Given the description of an element on the screen output the (x, y) to click on. 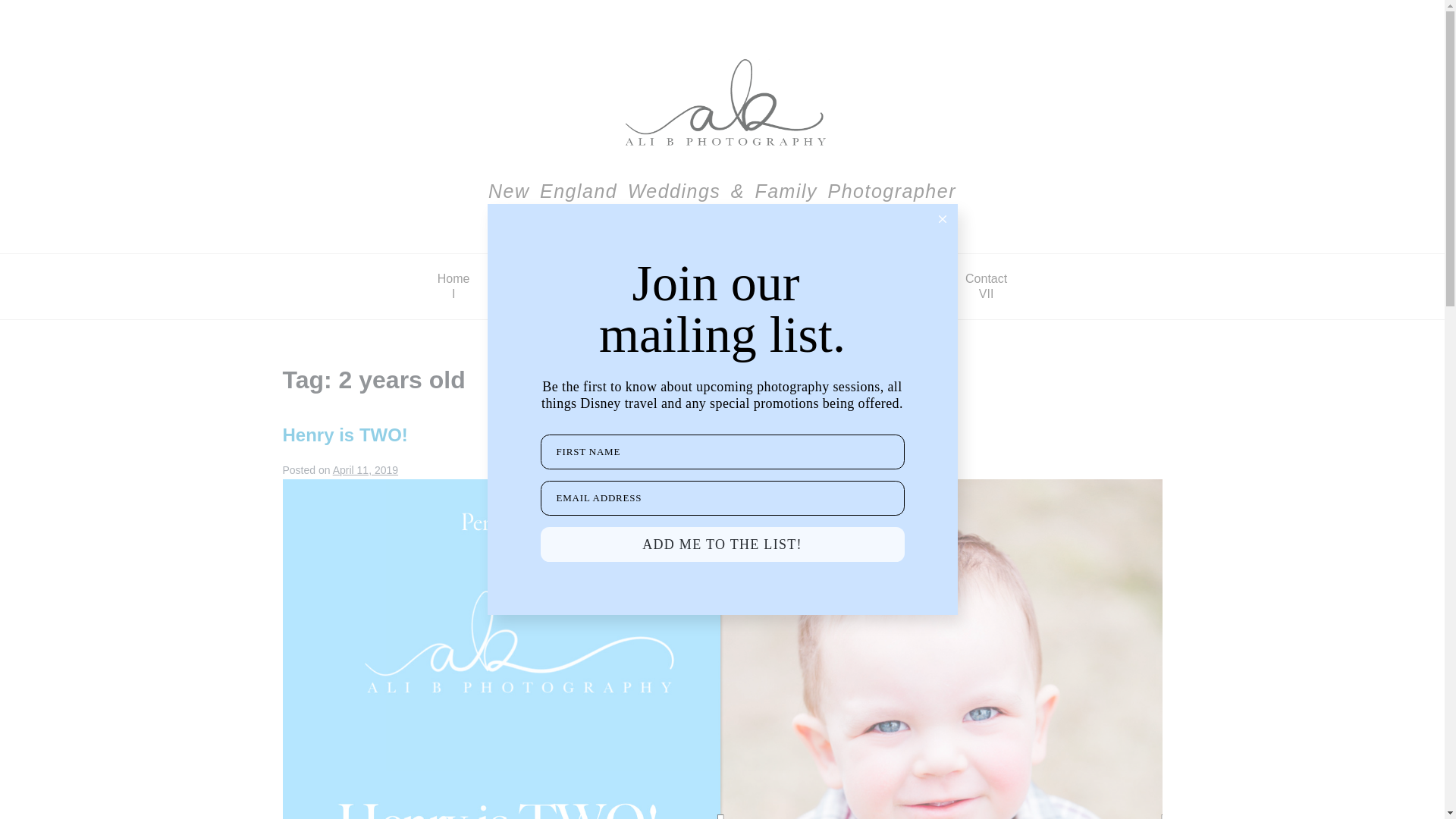
Henry is TWO! (803, 286)
Henry is TWO! (663, 286)
